Given the description of an element on the screen output the (x, y) to click on. 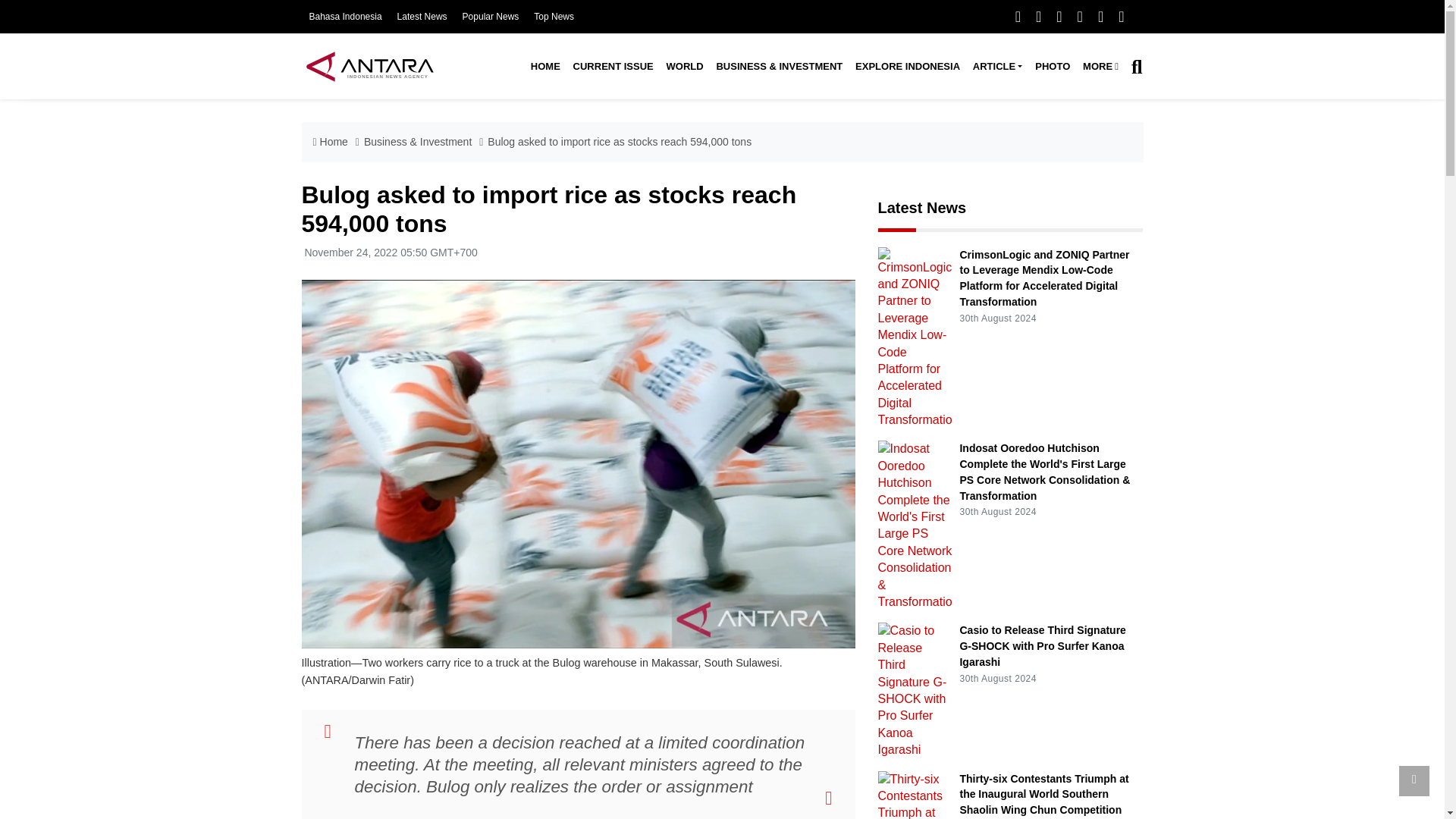
Bahasa Indonesia (344, 16)
Article (996, 66)
Latest News (421, 16)
ANTARA News (369, 66)
Popular News (491, 16)
CURRENT ISSUE (612, 66)
Top News (553, 16)
Current Issue (612, 66)
Explore Indonesia (907, 66)
